Given the description of an element on the screen output the (x, y) to click on. 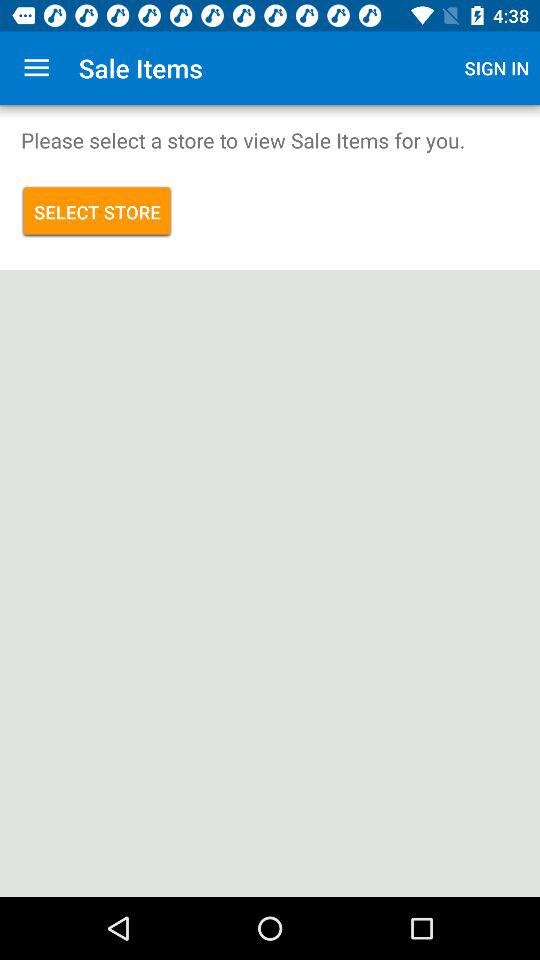
turn off sign in icon (497, 67)
